Given the description of an element on the screen output the (x, y) to click on. 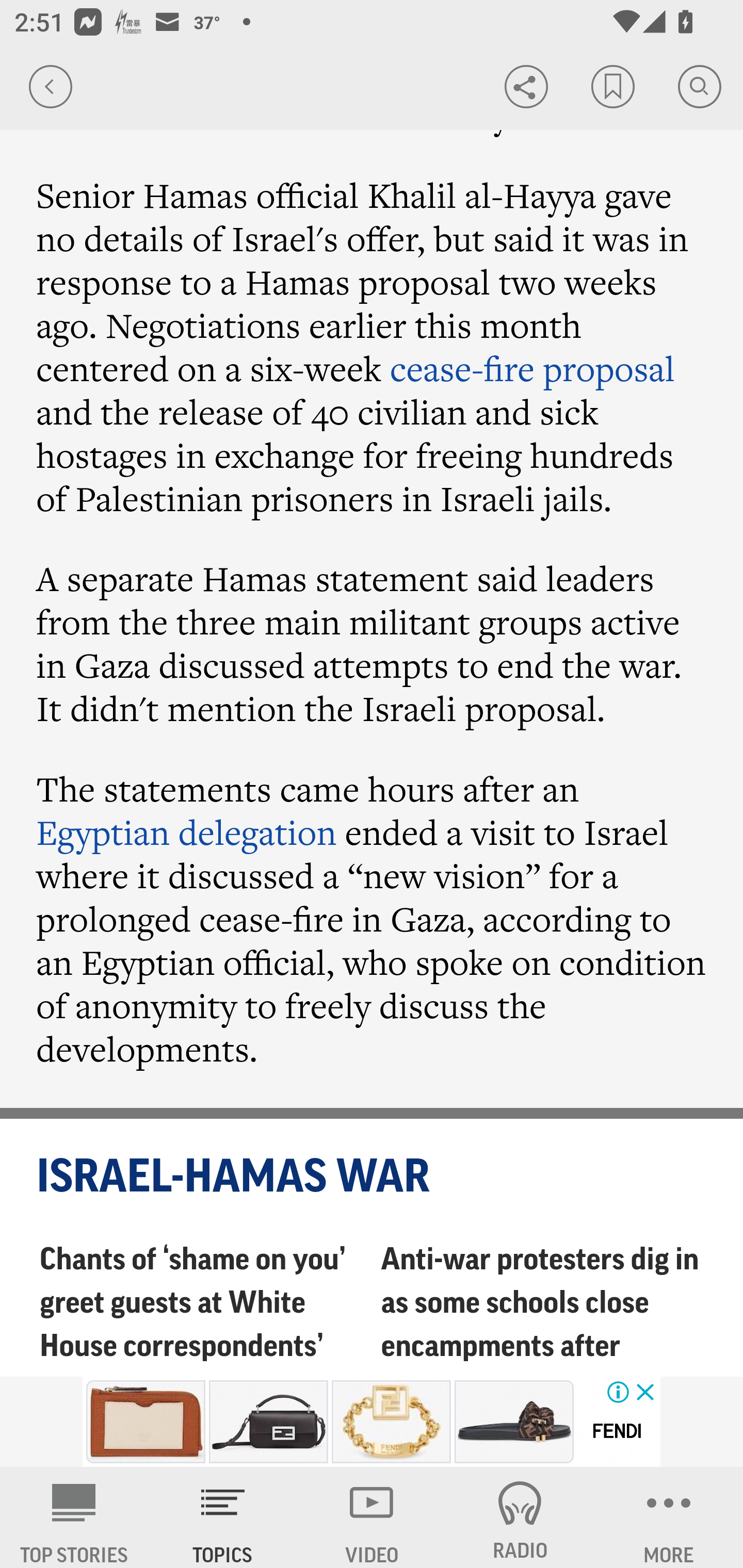
cease-fire proposal (531, 368)
Egyptian delegation (186, 833)
ISRAEL-HAMAS WAR (372, 1176)
fendi-feel-brown-satin-slides-8x8142ae7sf0r7v (513, 1420)
AP News TOP STORIES (74, 1517)
TOPICS (222, 1517)
VIDEO (371, 1517)
RADIO (519, 1517)
MORE (668, 1517)
